Given the description of an element on the screen output the (x, y) to click on. 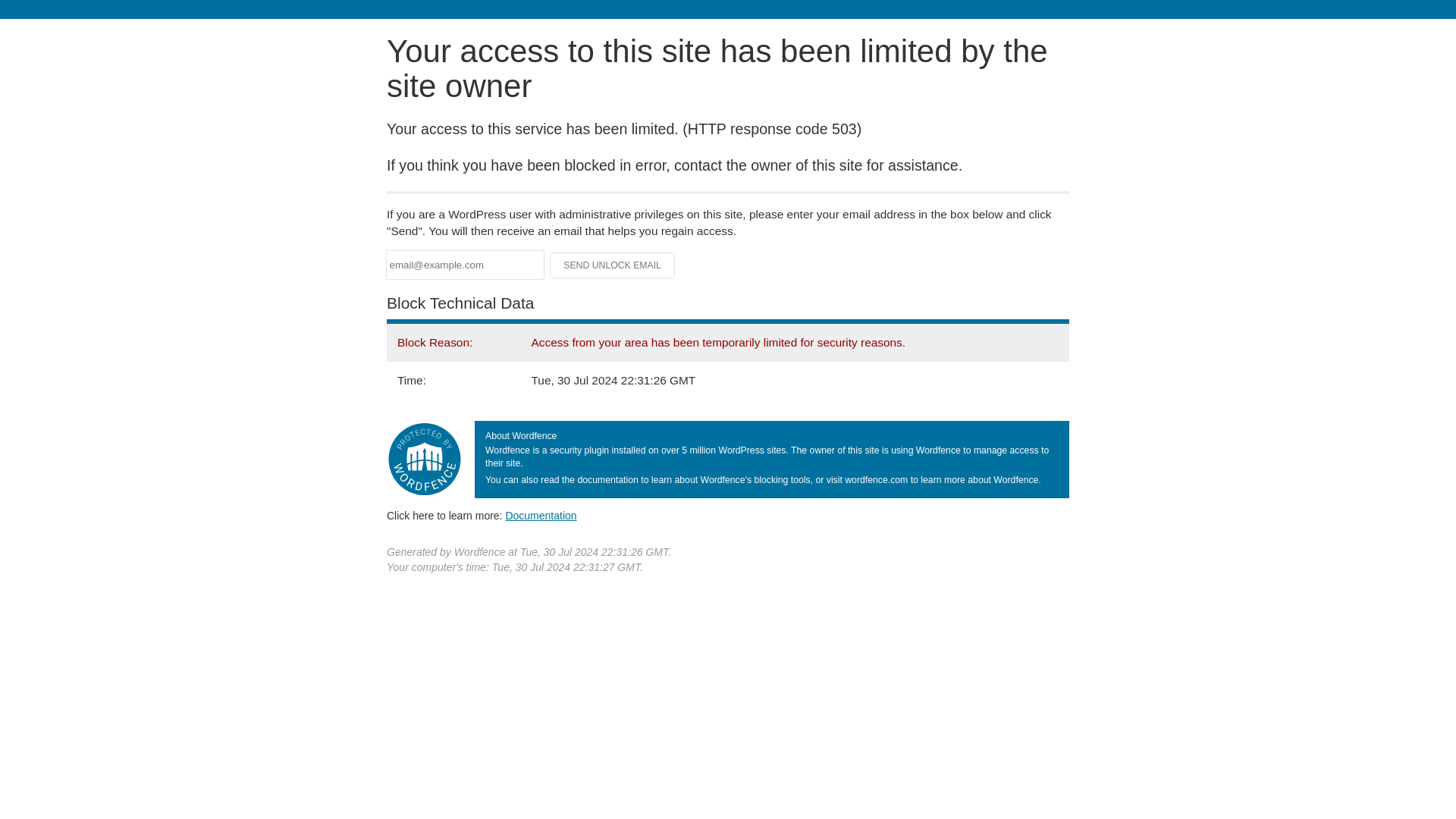
Send Unlock Email (612, 265)
Documentation (540, 515)
Send Unlock Email (612, 265)
